Given the description of an element on the screen output the (x, y) to click on. 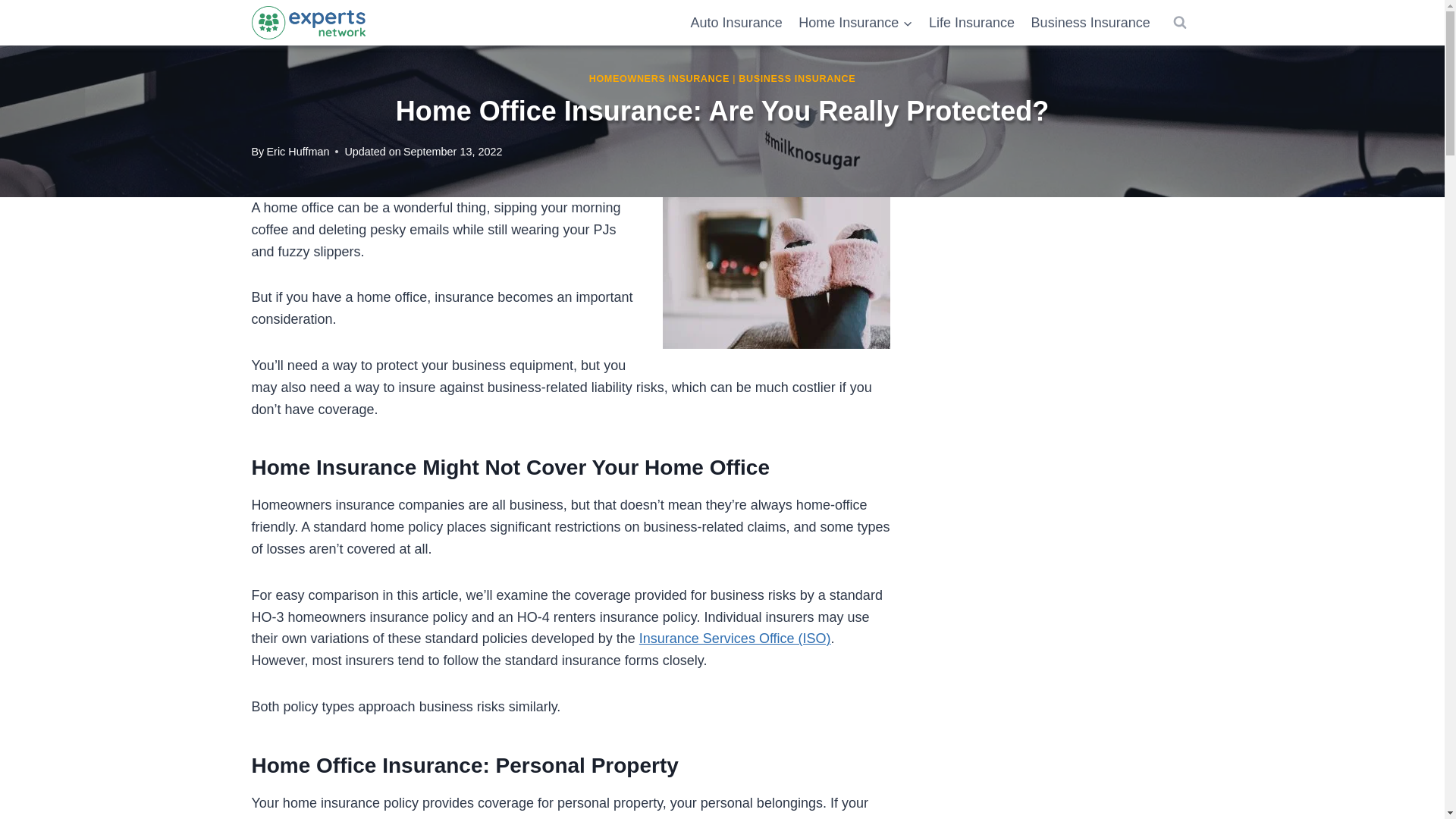
Life Insurance (971, 22)
Auto Insurance (736, 22)
HOMEOWNERS INSURANCE (659, 78)
Business Insurance (1090, 22)
Home Insurance (855, 22)
BUSINESS INSURANCE (797, 78)
